Given the description of an element on the screen output the (x, y) to click on. 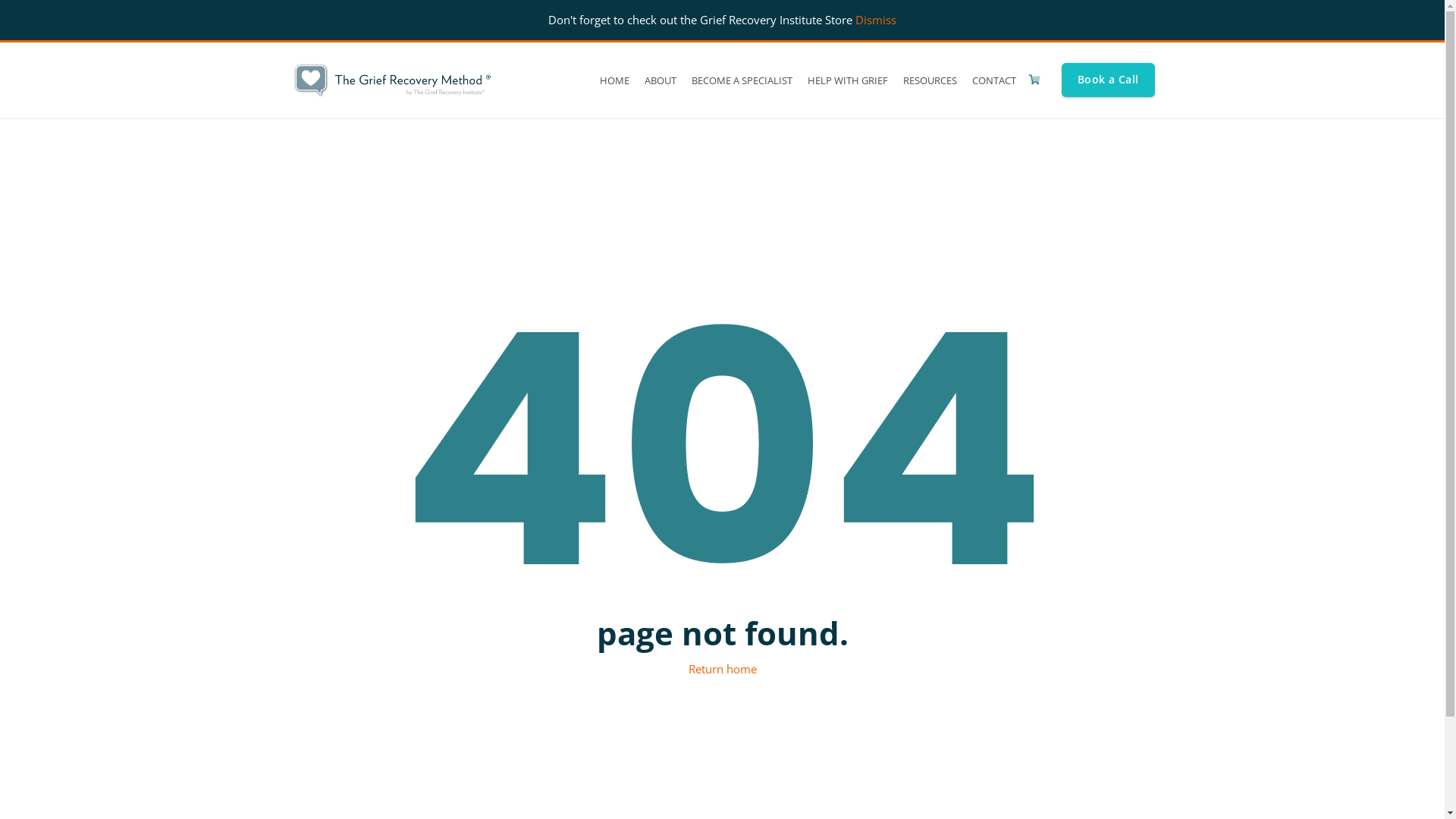
CONTACT Element type: text (993, 80)
ABOUT Element type: text (660, 80)
Return home Element type: text (722, 668)
Book a Call Element type: text (1107, 79)
HELP WITH GRIEF Element type: text (847, 80)
BECOME A SPECIALIST Element type: text (742, 80)
Dismiss Element type: text (875, 19)
HOME Element type: text (614, 80)
RESOURCES Element type: text (929, 80)
